Given the description of an element on the screen output the (x, y) to click on. 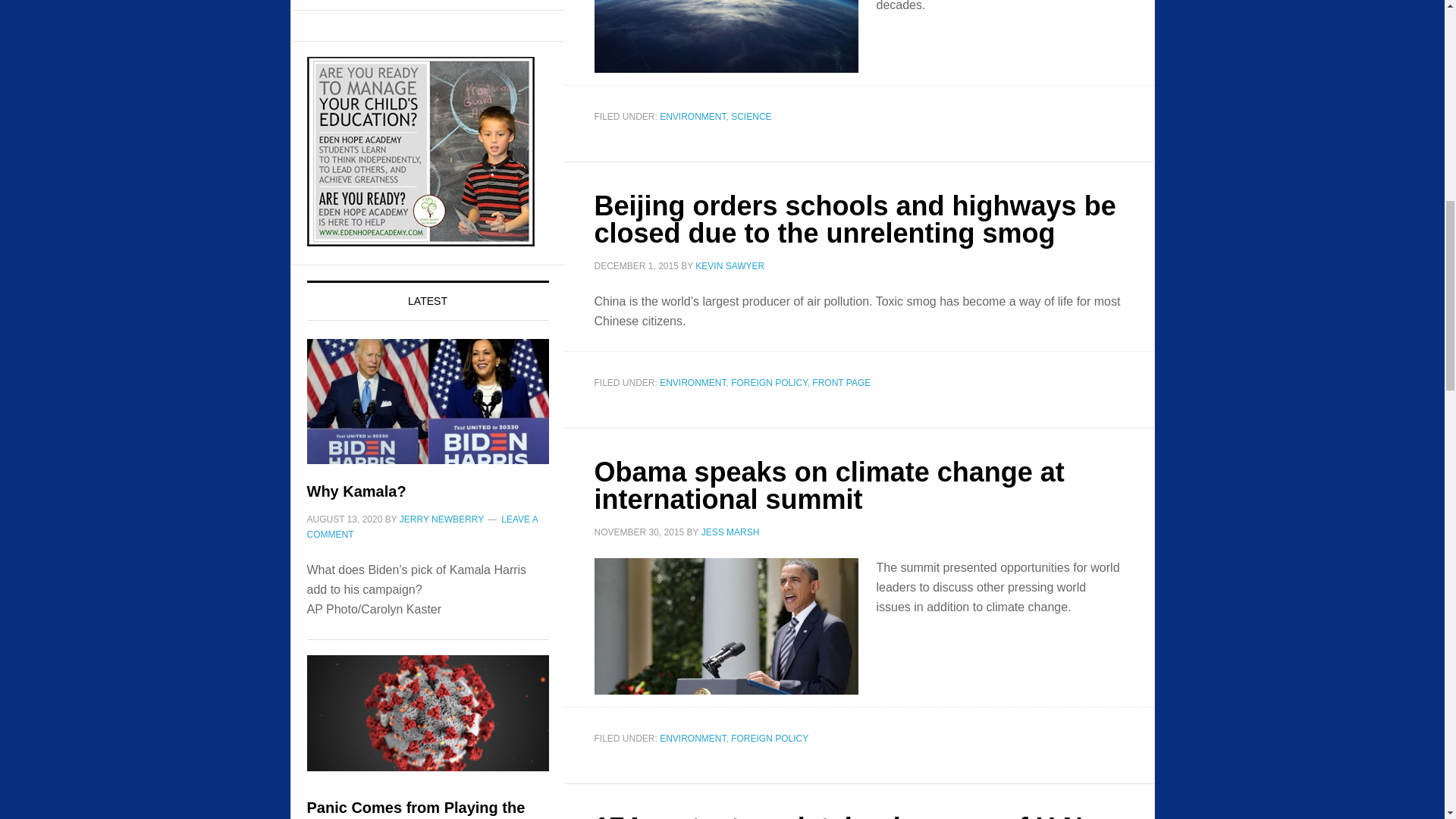
ENVIRONMENT (692, 382)
KEVIN SAWYER (729, 266)
Why Kamala? (426, 410)
Obama speaks on climate change at international summit (829, 485)
Panic Comes from Playing the Numbers Game (426, 726)
FOREIGN POLICY (769, 738)
ENVIRONMENT (692, 116)
FRONT PAGE (841, 382)
